Given the description of an element on the screen output the (x, y) to click on. 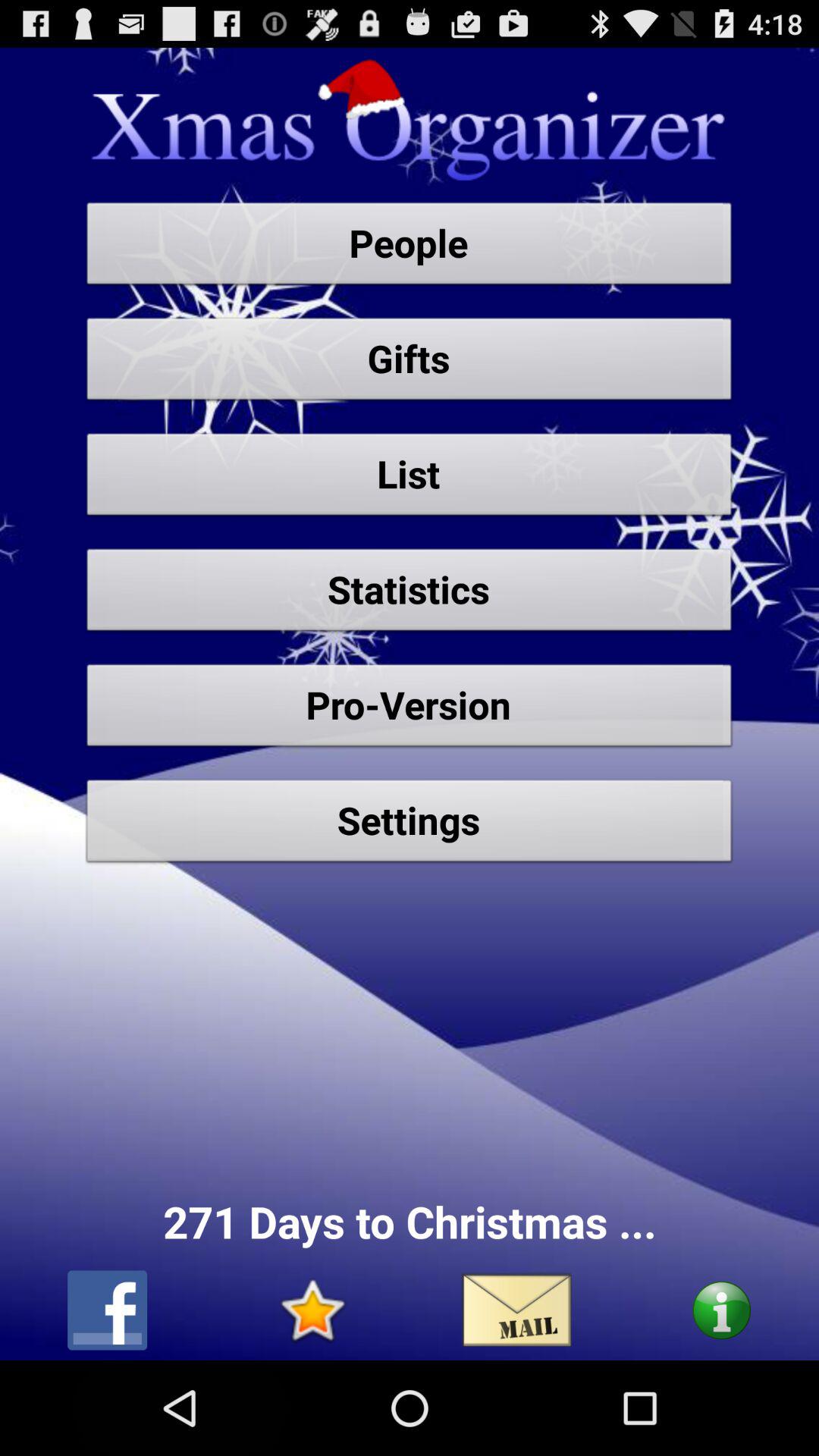
toggle autoplay option (721, 1310)
